Given the description of an element on the screen output the (x, y) to click on. 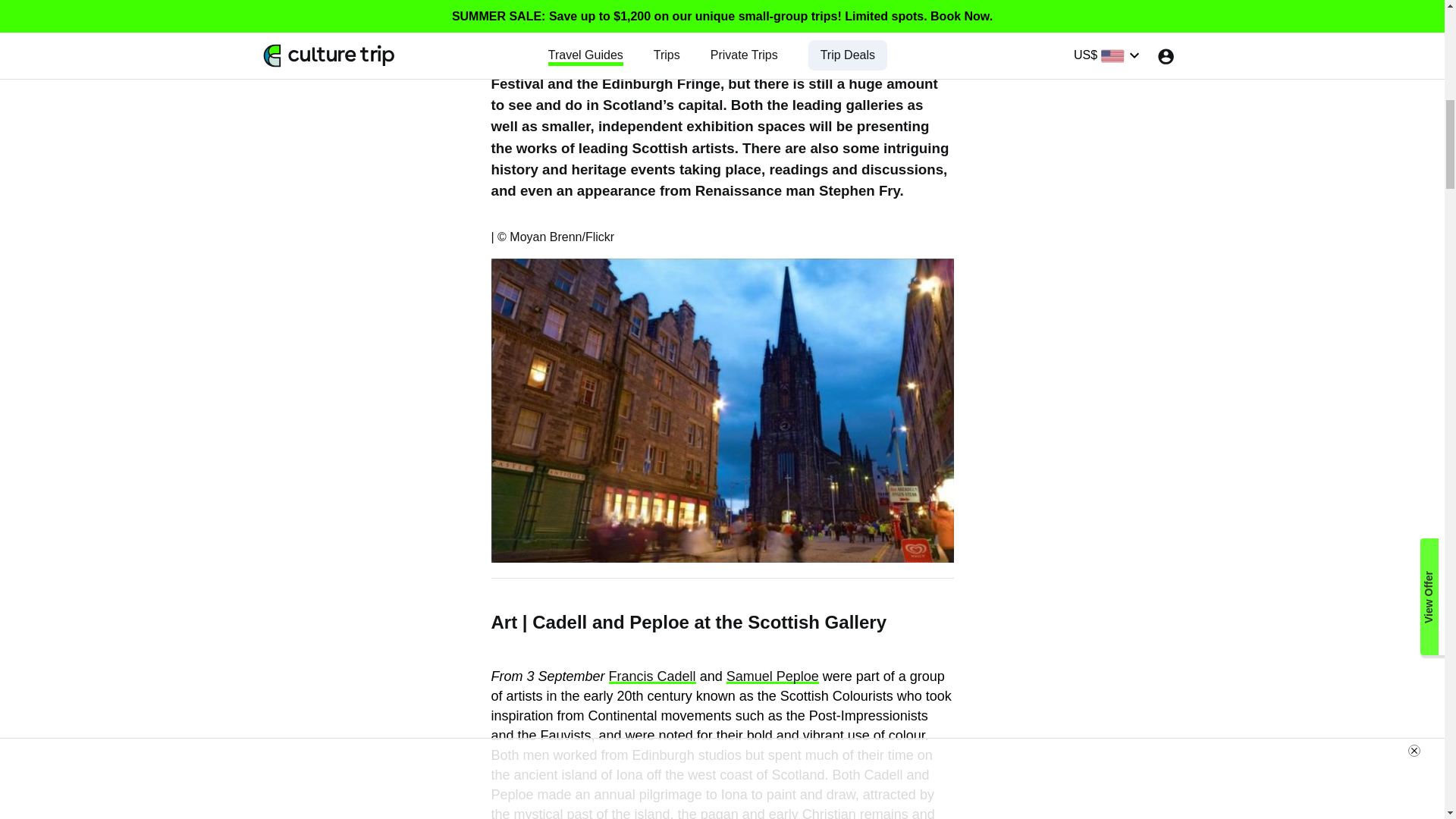
Francis Cadell (651, 676)
Samuel Peploe (772, 676)
09 February 2017 (367, 18)
